Given the description of an element on the screen output the (x, y) to click on. 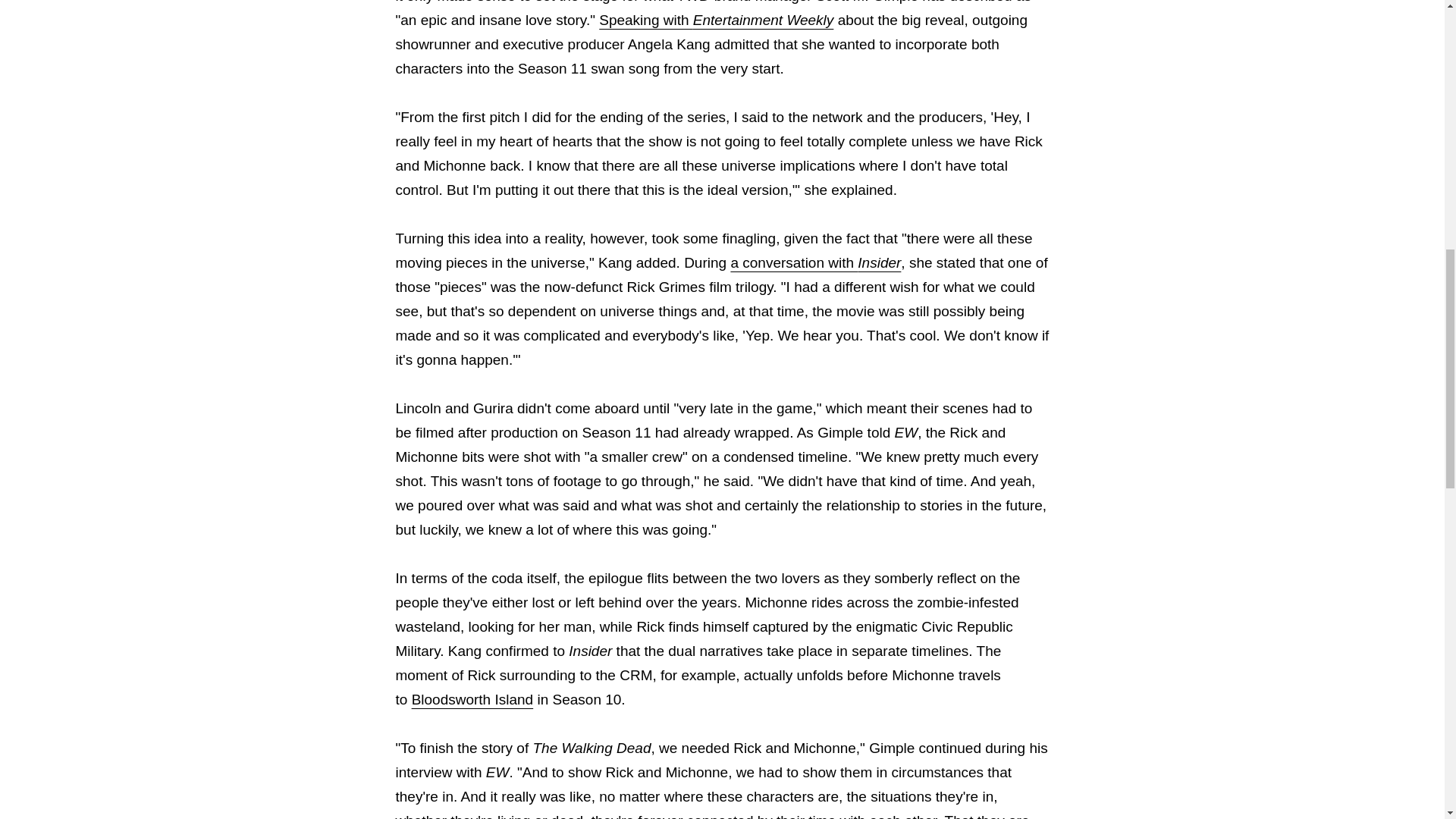
Entertainment Weekly (763, 19)
Bloodsworth Island (473, 699)
Speaking with (645, 19)
a conversation with Insider (815, 262)
